Given the description of an element on the screen output the (x, y) to click on. 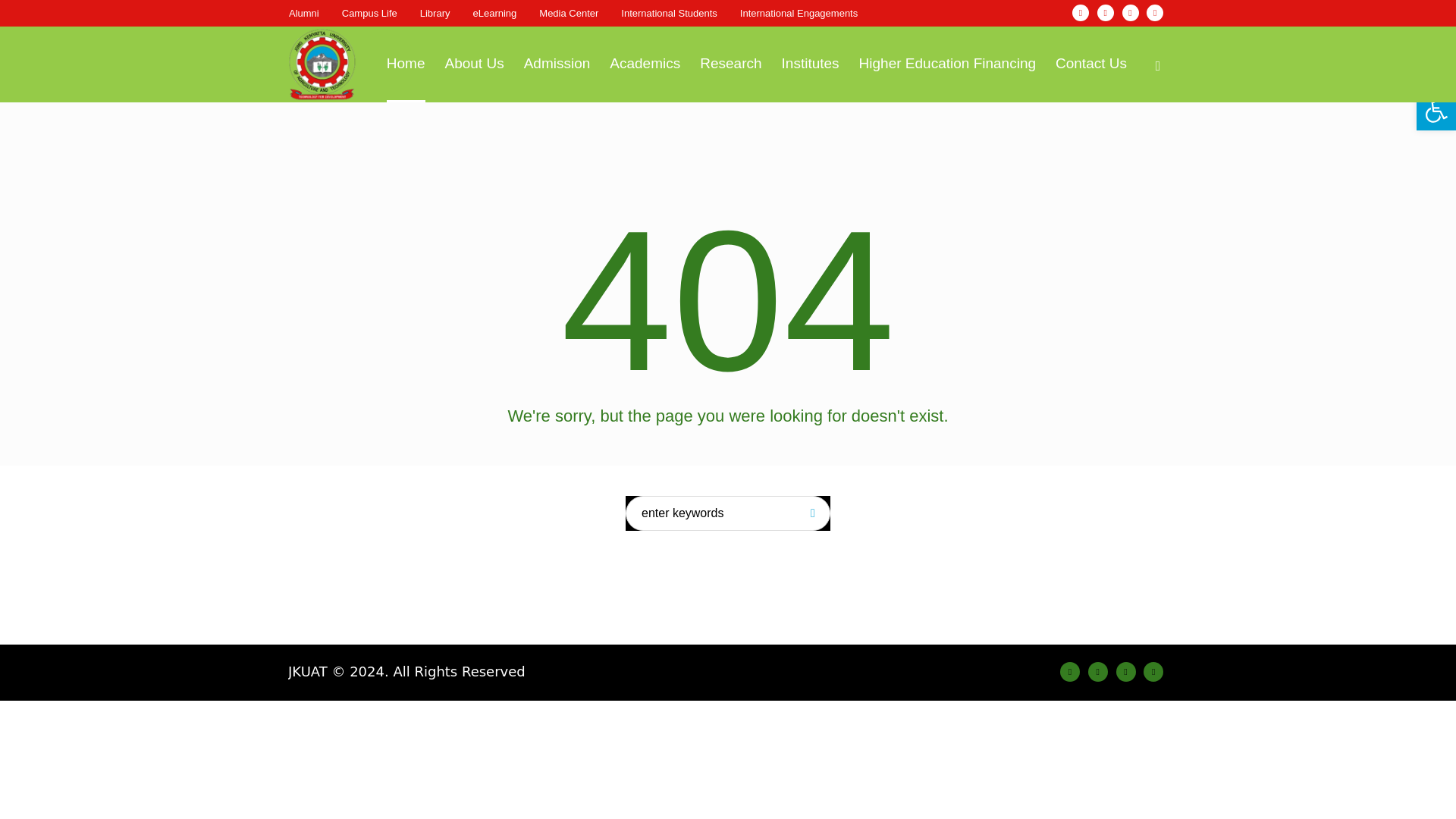
Campus Life (369, 12)
Facebook (1080, 12)
Instagram (1105, 12)
Media Center (568, 12)
Alumni (303, 12)
Twitter (1125, 671)
Twitter (1130, 12)
Accessibility Tools (1435, 110)
Facebook (1069, 671)
Instagram (1097, 671)
